Given the description of an element on the screen output the (x, y) to click on. 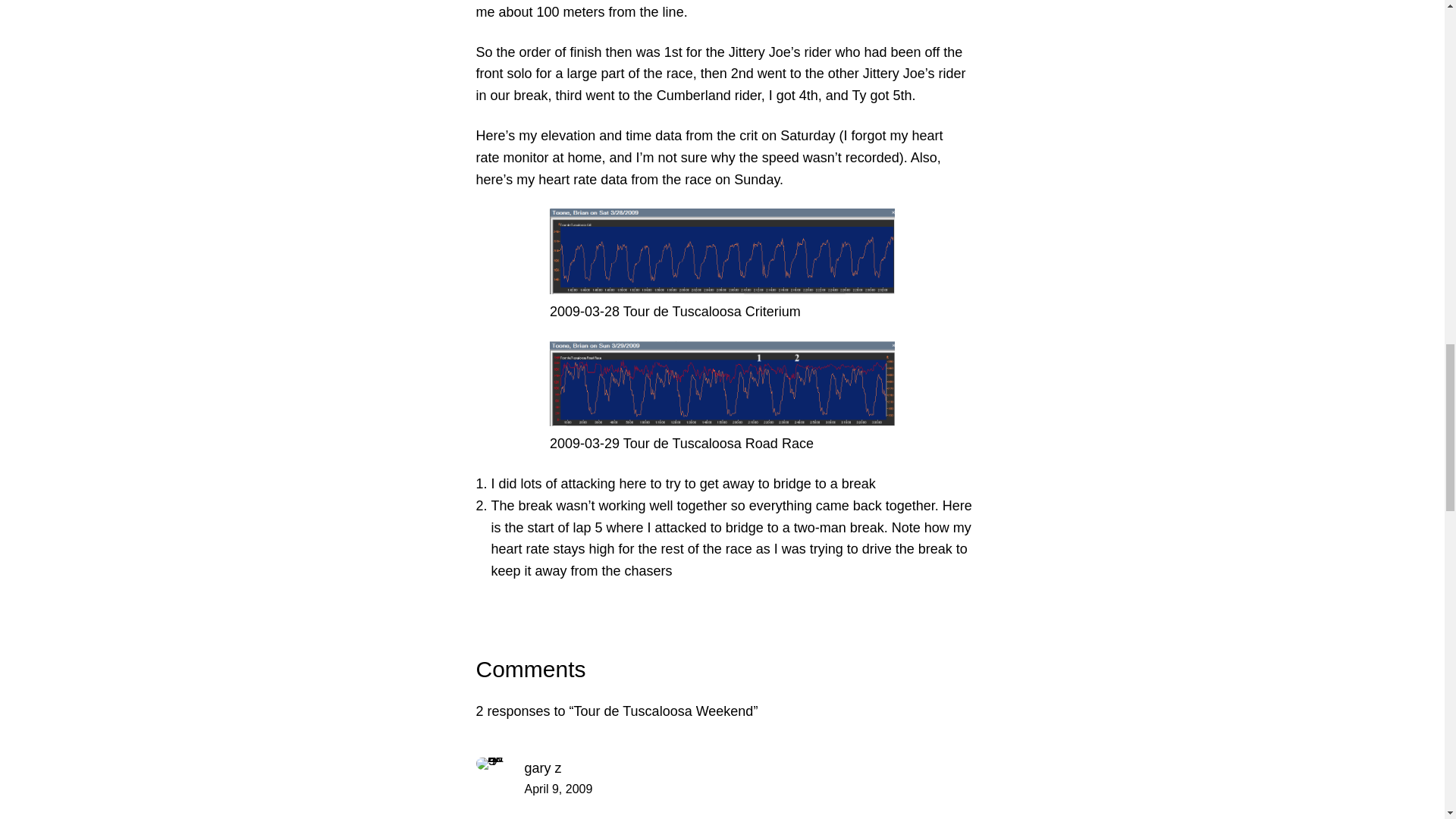
2009-03-28 Tour de Tuscaloosa Criterium (722, 251)
April 9, 2009 (558, 788)
2009-03-29 Tour de Tuscaloosa Road Race (722, 383)
